Given the description of an element on the screen output the (x, y) to click on. 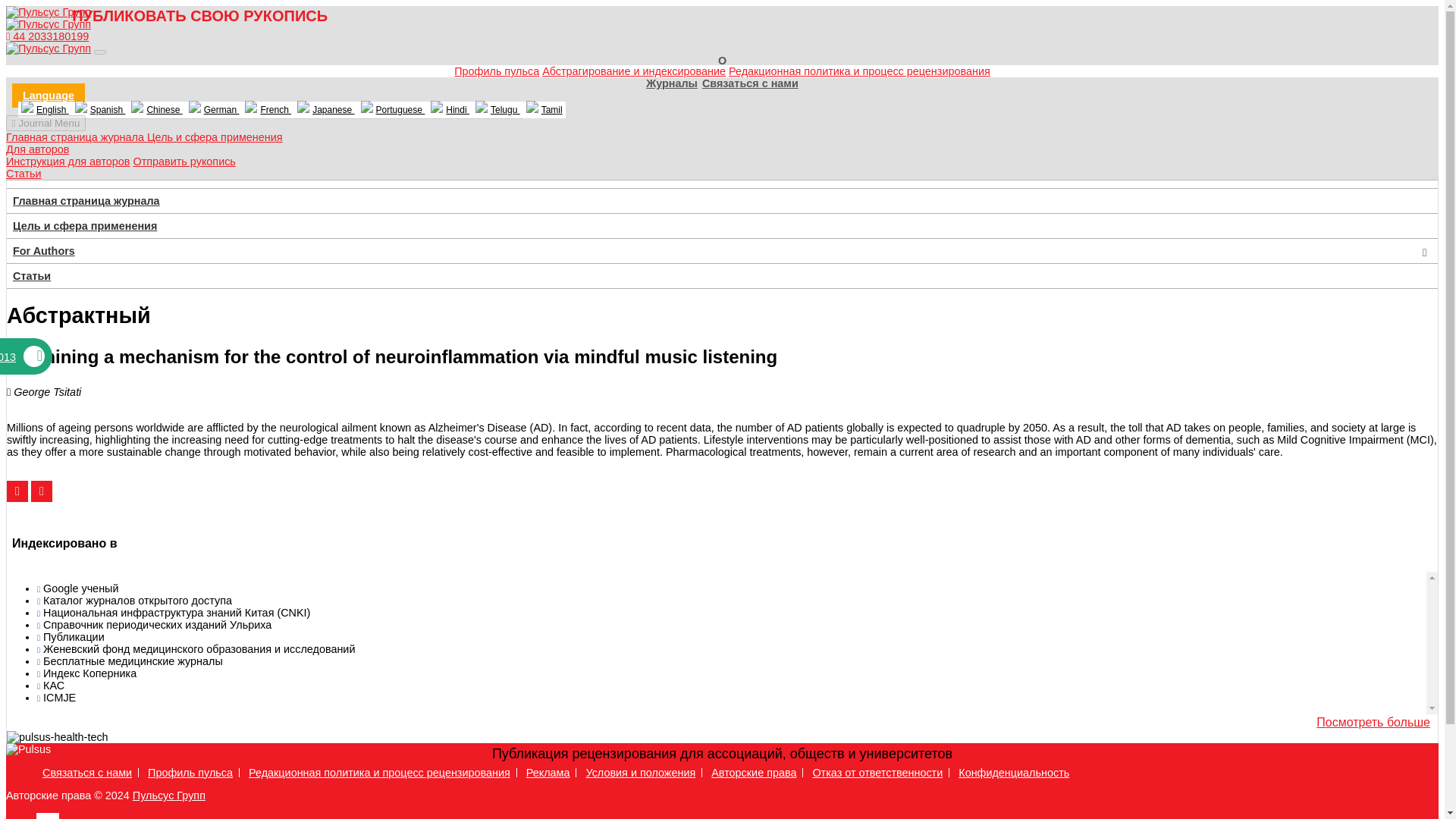
Japanese (325, 109)
Tamil (544, 109)
Spanish (100, 109)
Chinese (156, 109)
French (267, 109)
Telugu (496, 109)
44 1834290013 (22, 357)
Hindi (449, 109)
Telugu (496, 109)
German (214, 109)
German (214, 109)
Chinese (156, 109)
Journal Menu (45, 123)
44 2033180199 (46, 36)
French (267, 109)
